Given the description of an element on the screen output the (x, y) to click on. 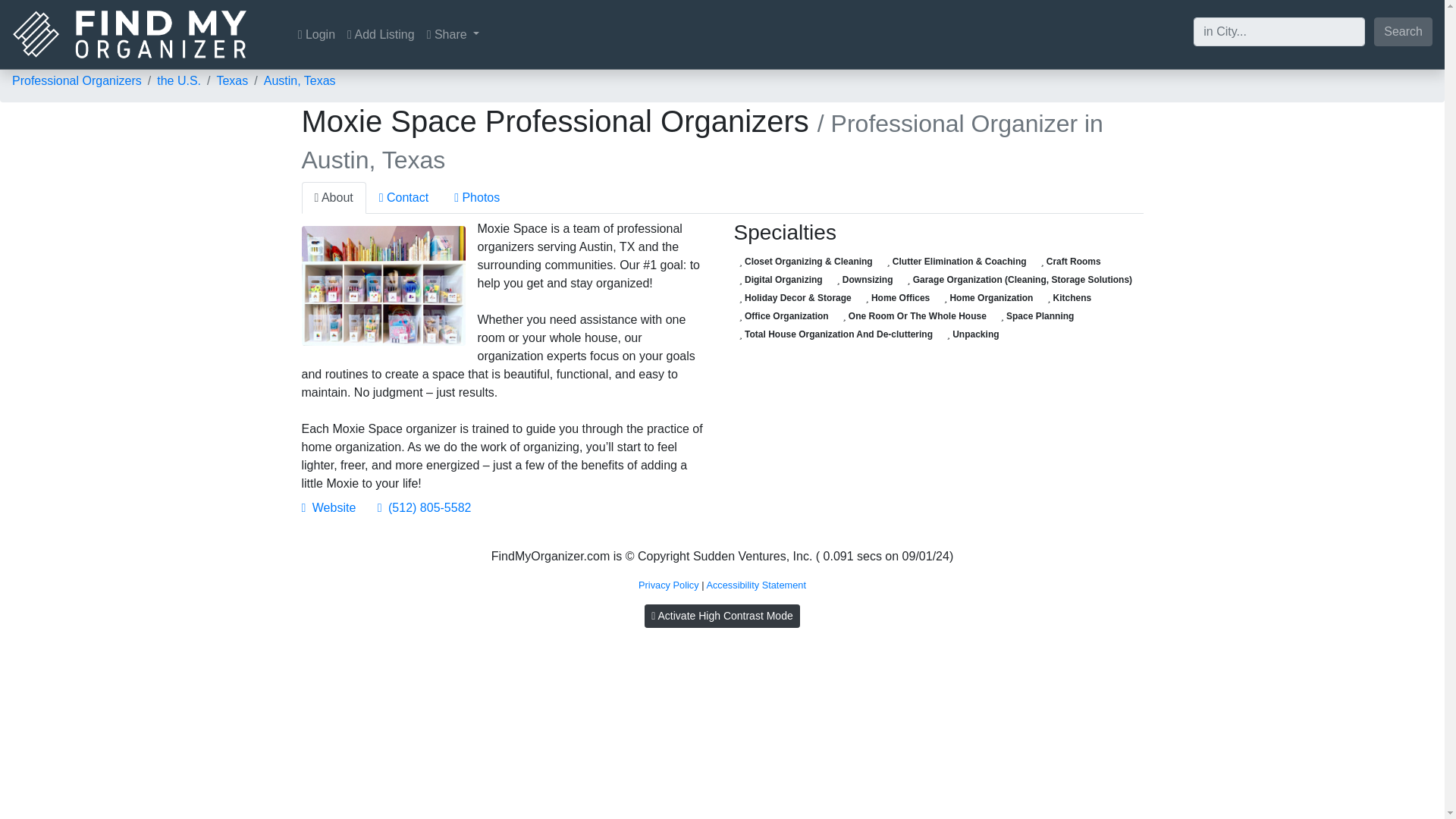
Accessibility Statement (756, 584)
the U.S. (178, 80)
Texas (231, 80)
Contact (403, 197)
Website (328, 507)
Photos (476, 197)
Professional Organizers (76, 80)
Privacy Policy (668, 584)
Add Listing (380, 34)
Search (1403, 30)
